Given the description of an element on the screen output the (x, y) to click on. 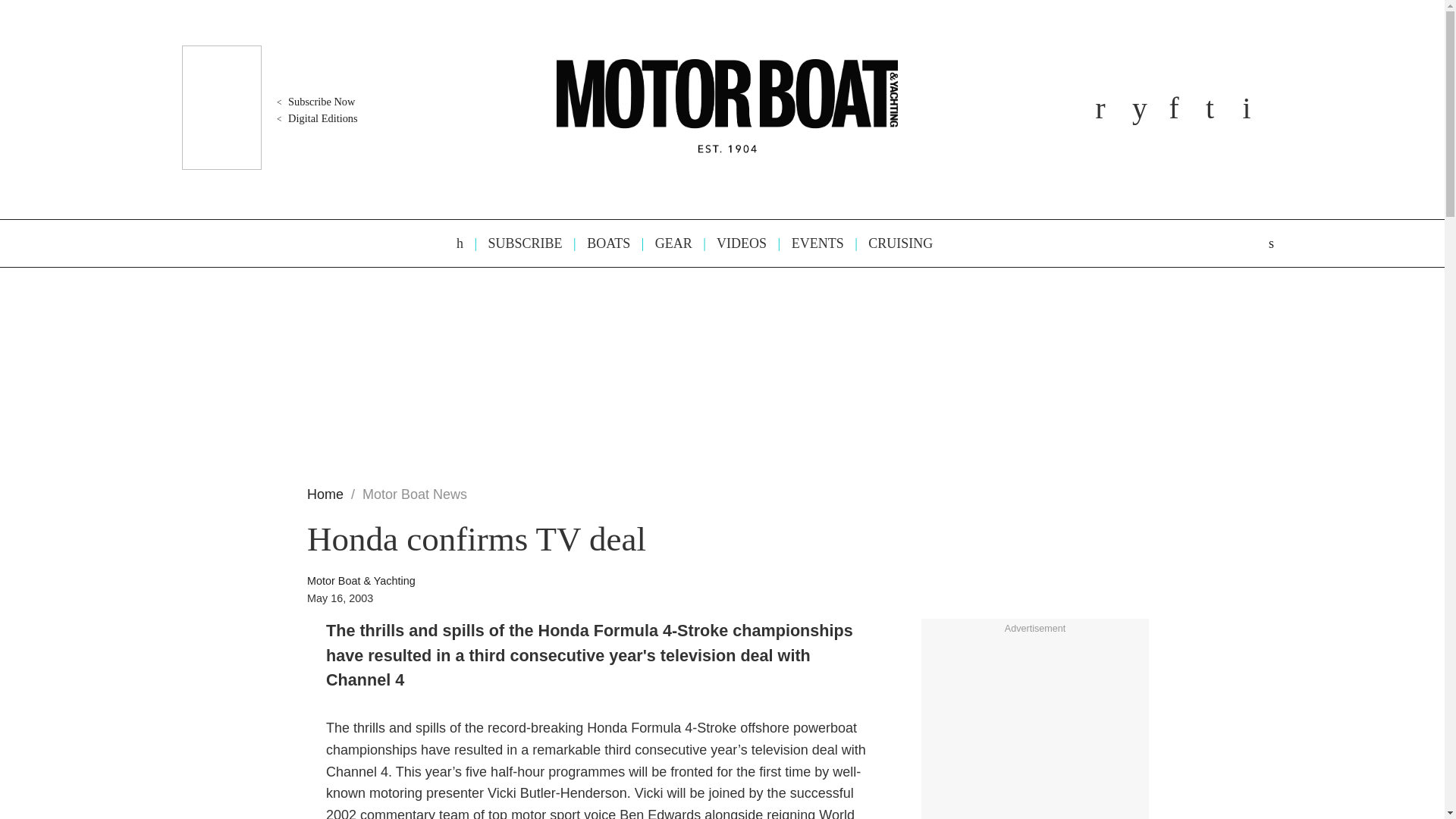
Subscribe Now (314, 101)
VIDEOS (734, 243)
Digital Editions (315, 118)
GEAR (666, 243)
EVENTS (810, 243)
CRUISING (893, 243)
BOATS (601, 243)
SUBSCRIBE (518, 243)
